Given the description of an element on the screen output the (x, y) to click on. 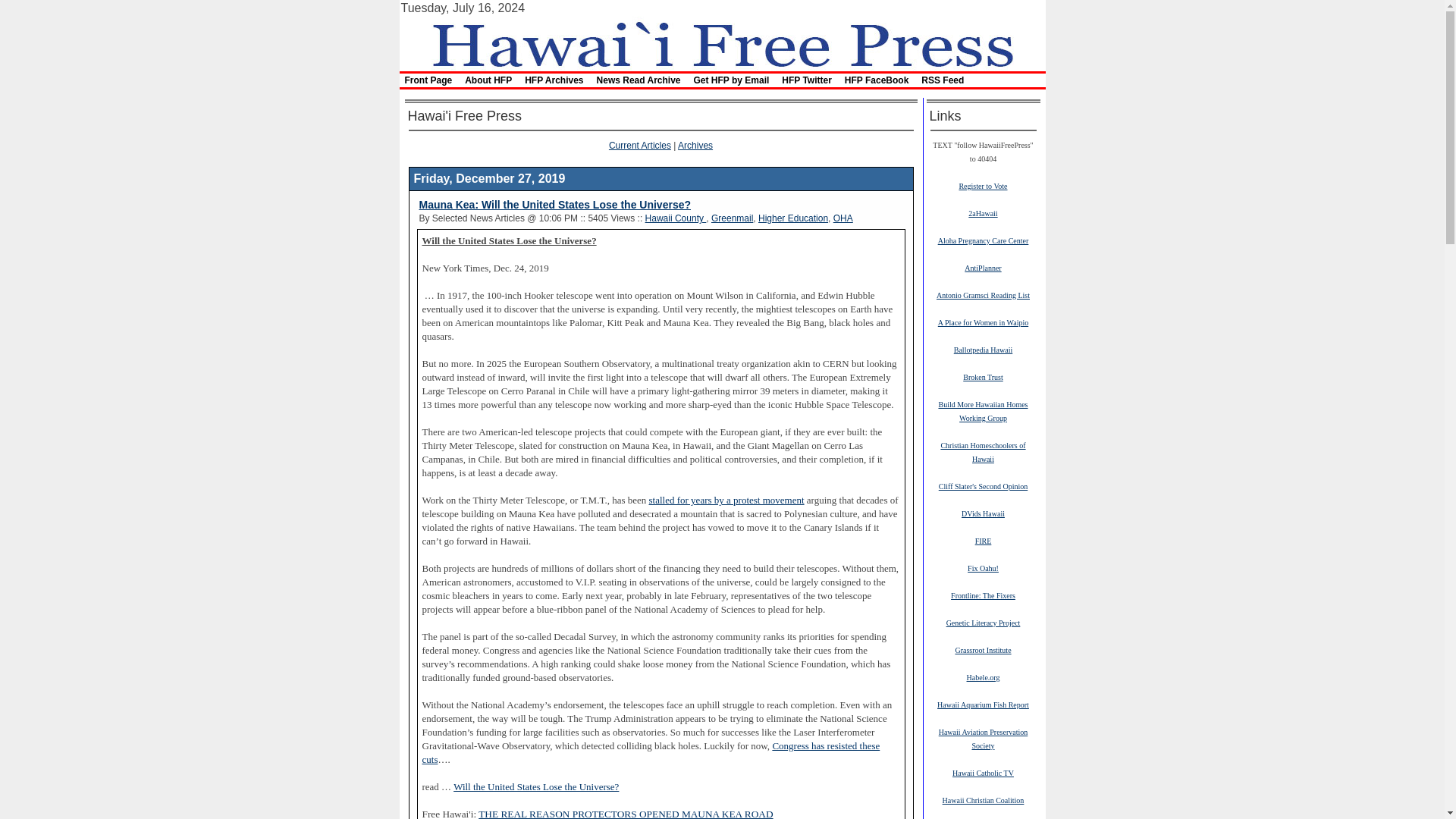
Aloha Pregnancy Care Center (983, 240)
Congress has resisted these cuts (650, 752)
Build More Hawaiian Homes Working Group (982, 410)
Cliff Slater's Second Opinion (983, 485)
Hawaii County (675, 217)
AntiPlanner (982, 267)
Broken Trust (982, 376)
Antonio Gramsci Reading List (982, 294)
Frontline: The Fixers (982, 594)
Higher Education (793, 217)
Mauna Kea: Will the United States Lose the Universe? (554, 204)
Hawaii Aviation Preservation Society (983, 738)
Ballotpedia Hawaii (982, 348)
stalled for years by a protest movement (727, 500)
Hawaii Free Press (721, 42)
